Given the description of an element on the screen output the (x, y) to click on. 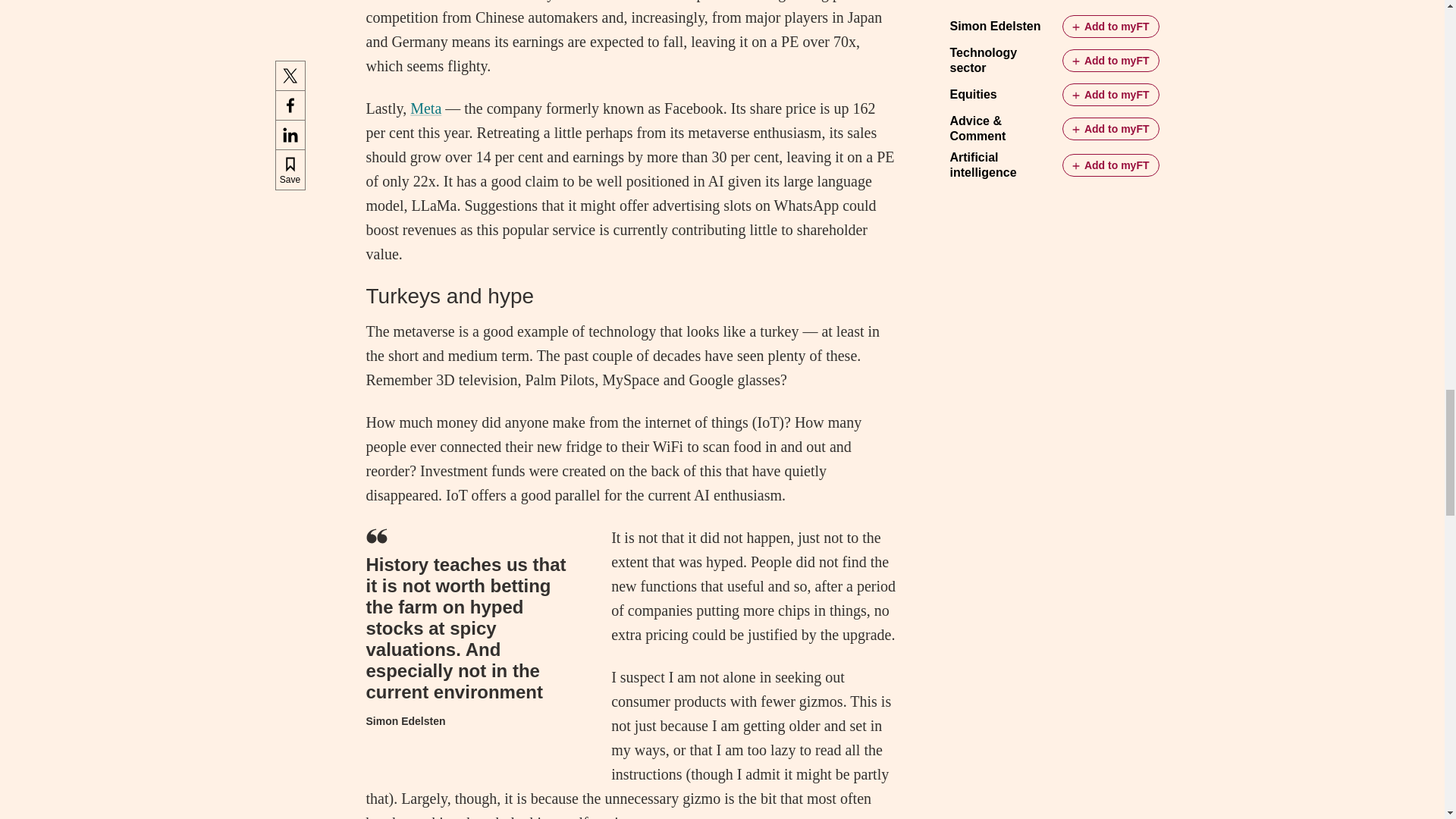
Add Technology sector to myFT (1110, 60)
Add Equities to myFT (1110, 94)
Add Simon Edelsten to myFT (1110, 26)
